Given the description of an element on the screen output the (x, y) to click on. 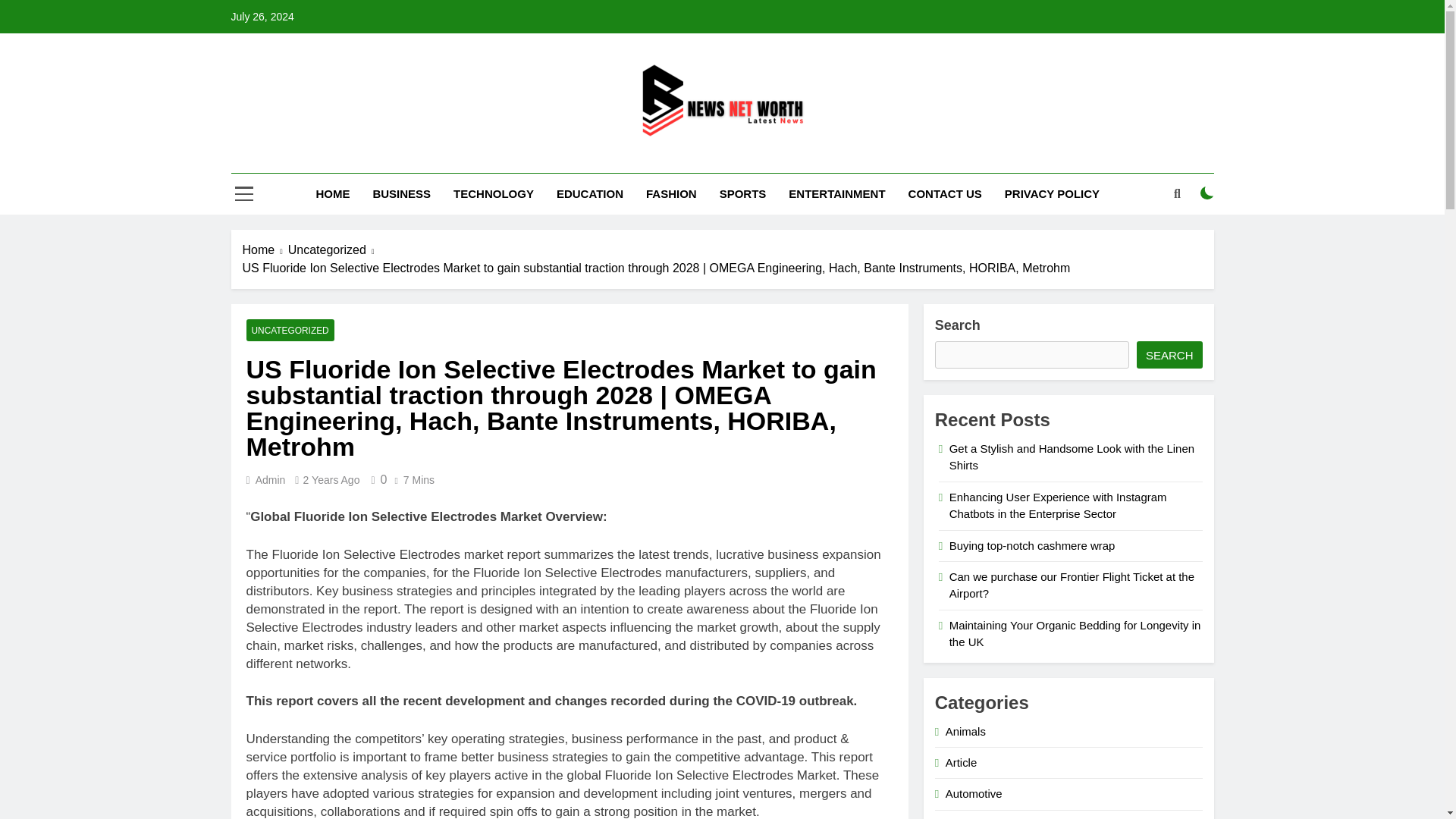
HOME (332, 193)
UNCATEGORIZED (289, 330)
on (1206, 192)
SPORTS (742, 193)
PRIVACY POLICY (1051, 193)
TECHNOLOGY (493, 193)
FASHION (670, 193)
2 Years Ago (330, 480)
ENTERTAINMENT (836, 193)
EDUCATION (589, 193)
Uncategorized (334, 249)
Admin (270, 480)
0 (376, 479)
BUSINESS (401, 193)
Home (265, 249)
